Given the description of an element on the screen output the (x, y) to click on. 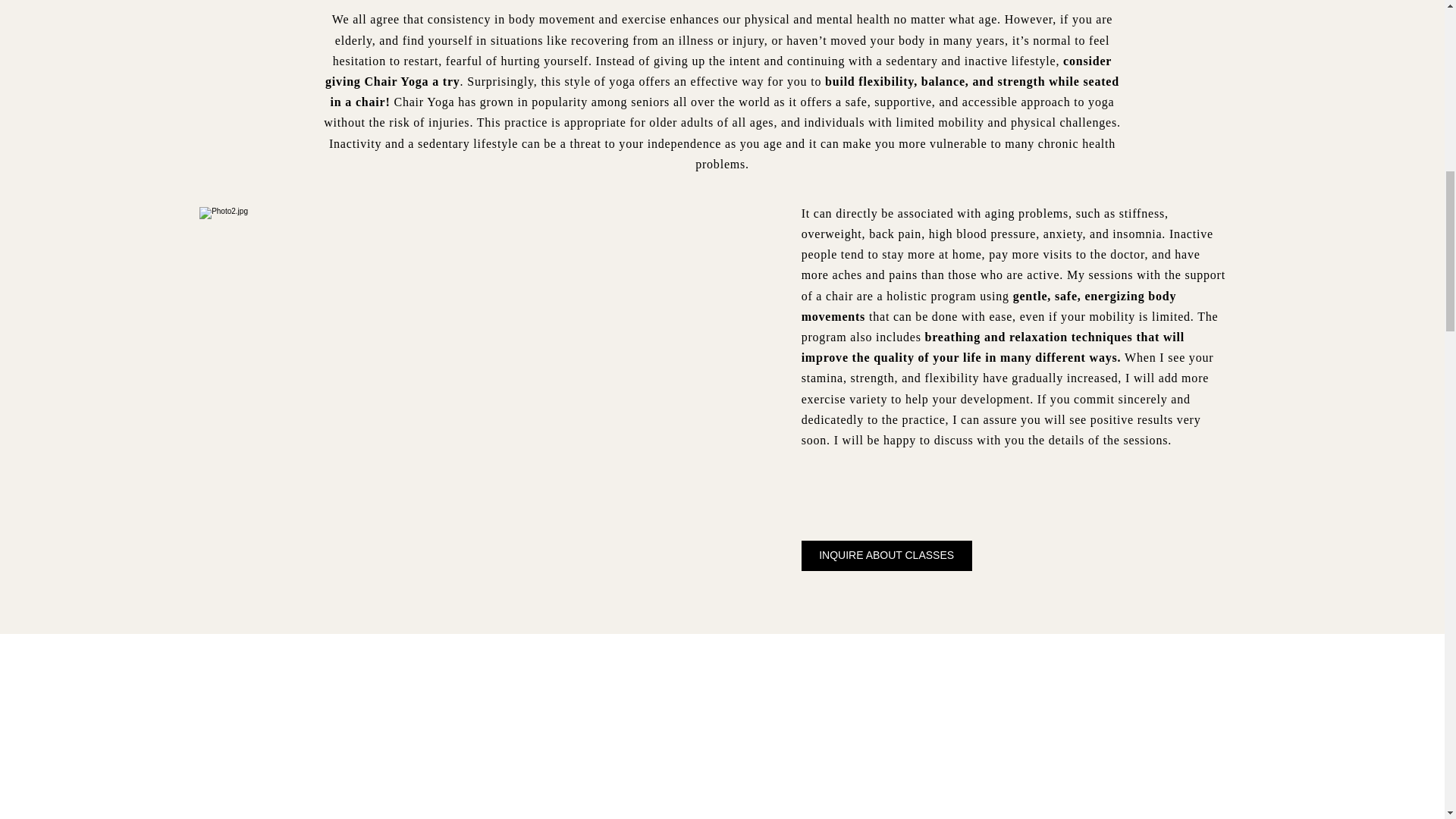
INQUIRE ABOUT CLASSES (887, 555)
